Given the description of an element on the screen output the (x, y) to click on. 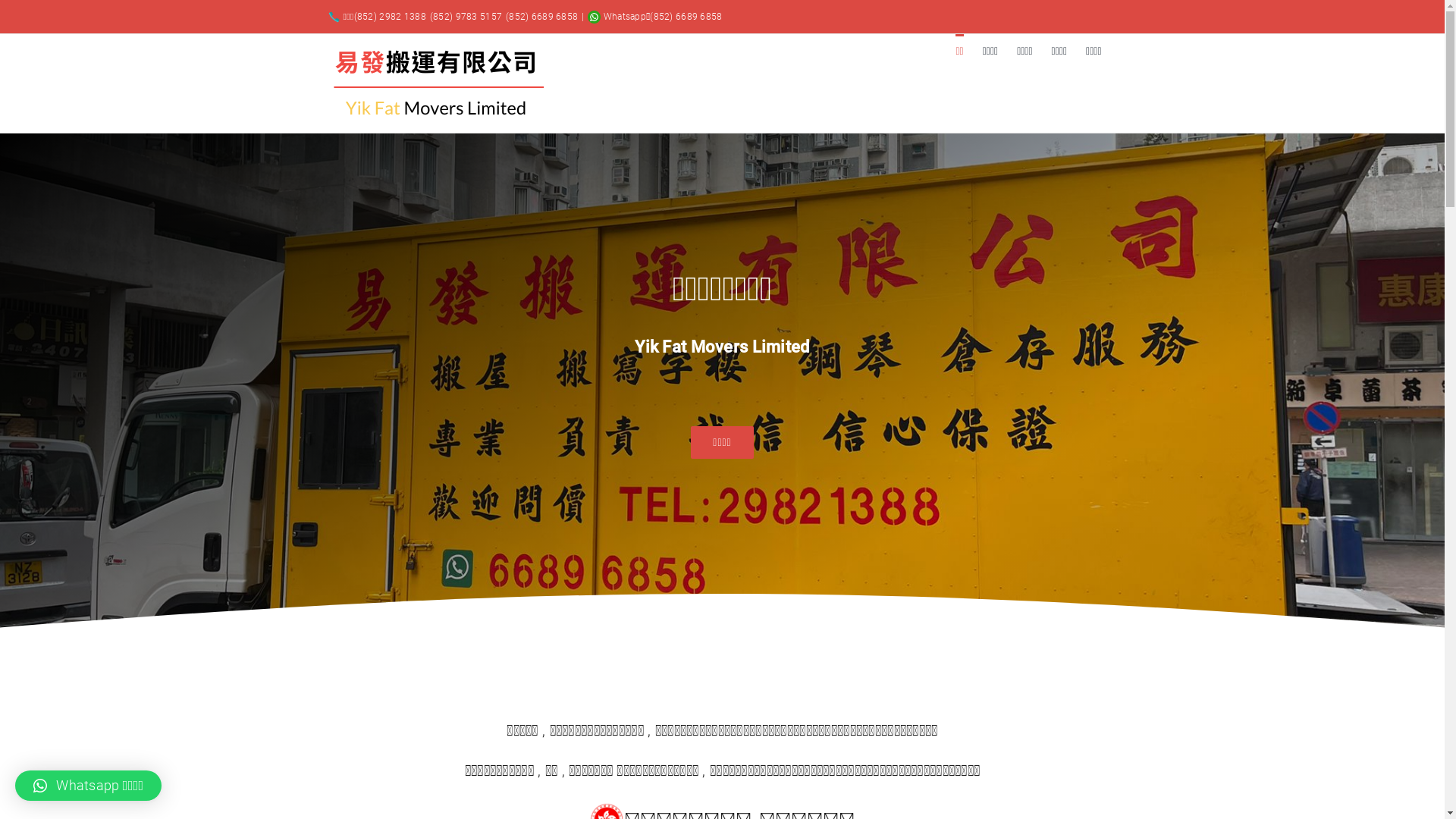
(852) 9783 5157 Element type: text (465, 16)
(852) 2982 1388 Element type: text (390, 16)
(852) 6689 6858 Element type: text (685, 16)
(852) 6689 6858 Element type: text (541, 16)
